Given the description of an element on the screen output the (x, y) to click on. 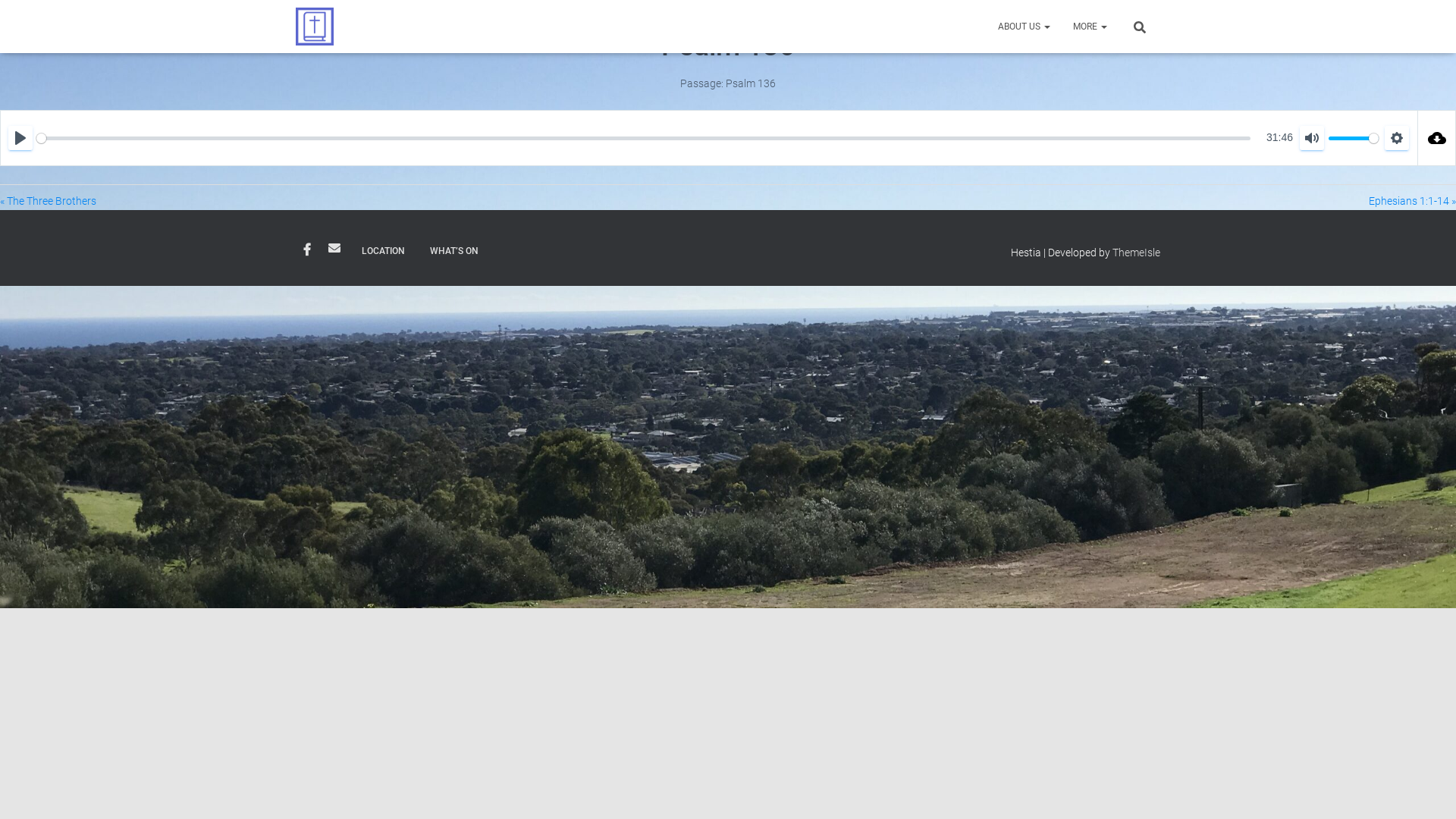
SETTINGS Element type: text (1396, 137)
LOCATION Element type: text (383, 250)
MORE Element type: text (1089, 26)
Search Element type: text (3, 16)
MUTE Element type: text (1311, 137)
PLAY Element type: text (20, 137)
EMAIL Element type: text (334, 247)
FACEBOOK Element type: text (306, 249)
ThemeIsle Element type: text (1136, 252)
Hackham Baptist Family Church Element type: hover (314, 26)
ABOUT US Element type: text (1023, 26)
